Given the description of an element on the screen output the (x, y) to click on. 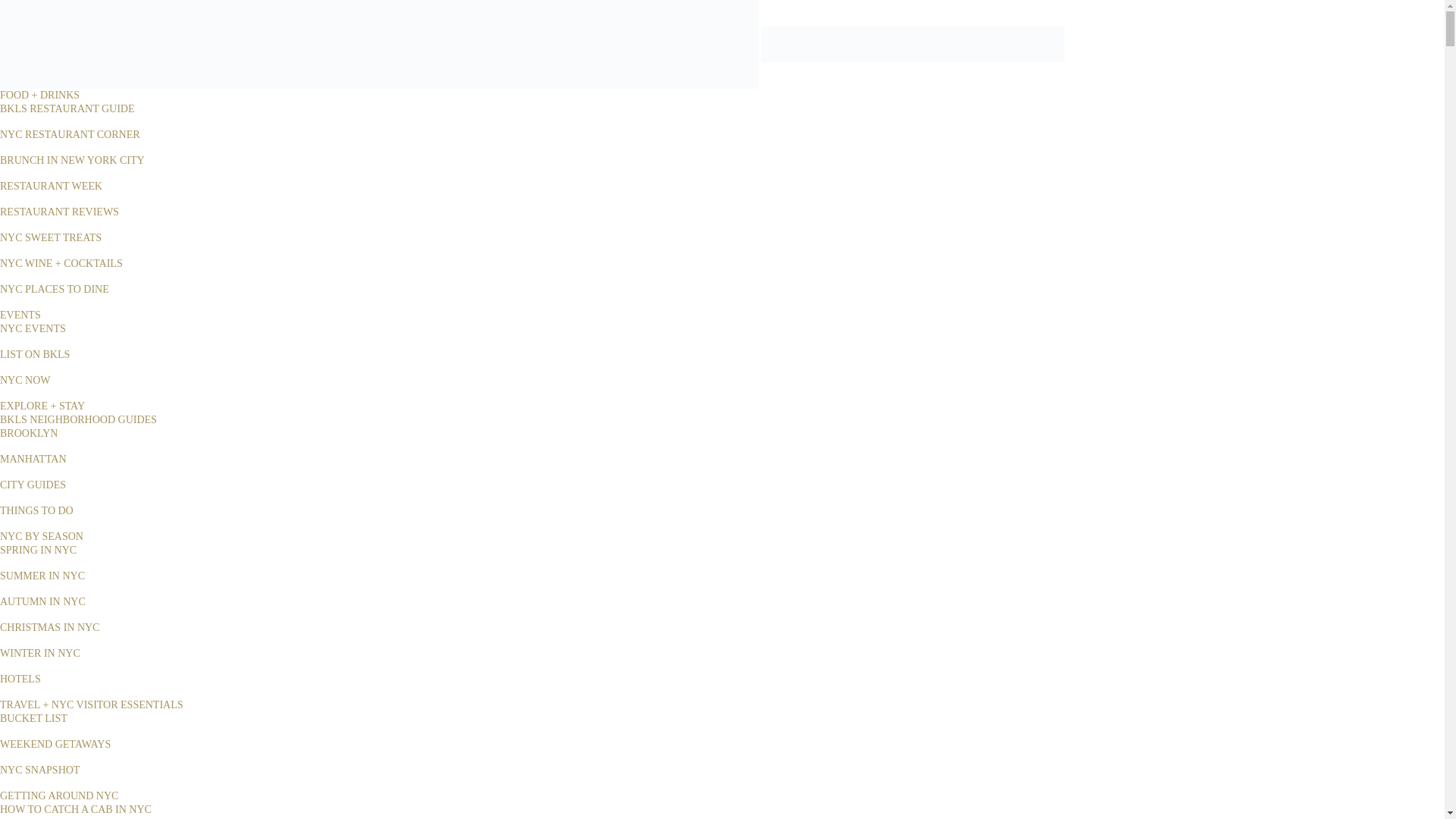
NYC RESTAURANT CORNER (69, 134)
NYC SWEET TREATS (50, 237)
GETTING AROUND NYC (58, 795)
NYC EVENTS (32, 328)
SUMMER IN NYC (42, 575)
CHRISTMAS IN NYC (49, 627)
CITY GUIDES (32, 484)
EVENTS (20, 315)
RESTAURANT WEEK (50, 185)
NYC PLACES TO DINE (54, 288)
